Given the description of an element on the screen output the (x, y) to click on. 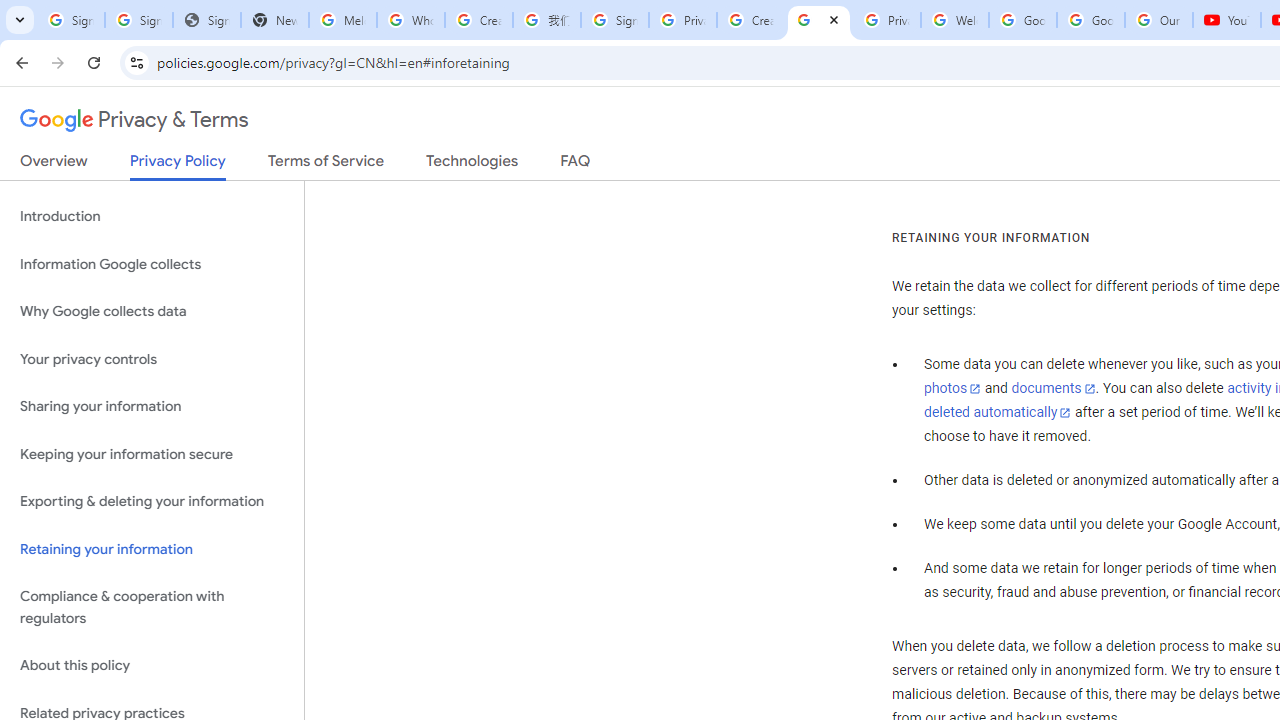
Retaining your information (152, 548)
Compliance & cooperation with regulators (152, 607)
About this policy (152, 666)
photos (952, 389)
Sharing your information (152, 407)
New Tab (274, 20)
